Given the description of an element on the screen output the (x, y) to click on. 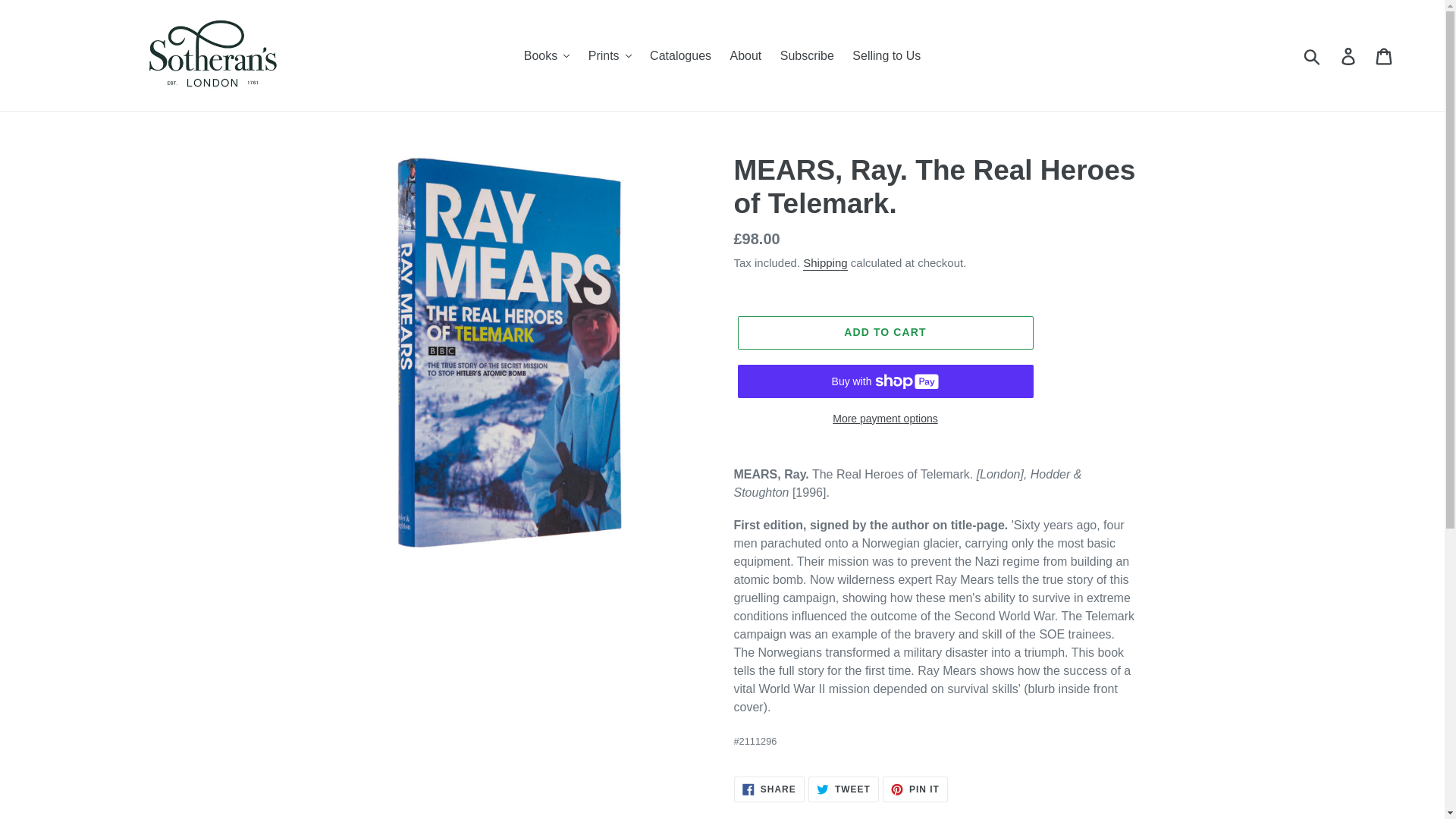
Subscribe (807, 55)
Selling to Us (886, 55)
Cart (1385, 55)
About (745, 55)
Log in (1349, 55)
Submit (1313, 55)
Catalogues (680, 55)
